Given the description of an element on the screen output the (x, y) to click on. 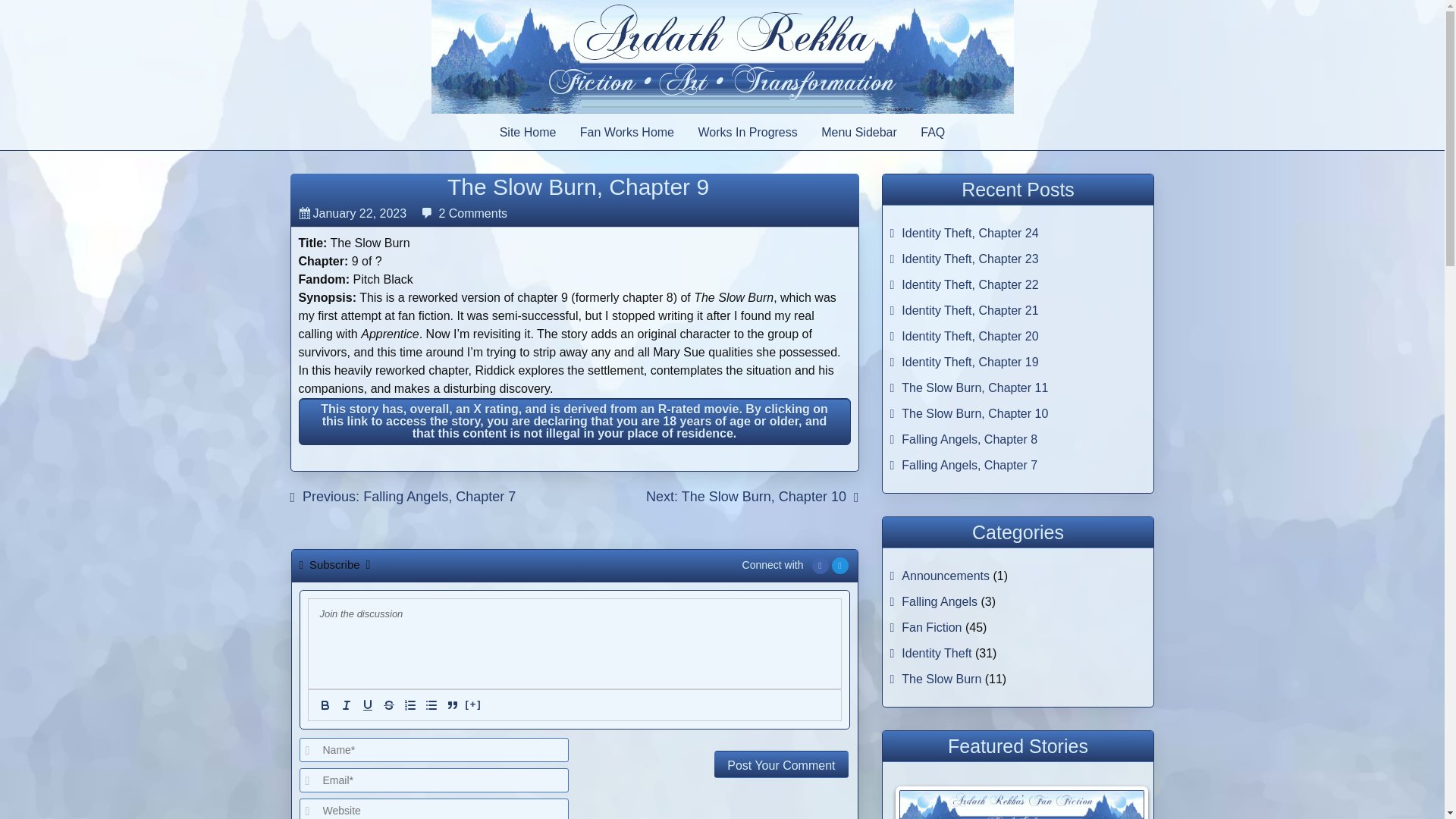
Identity Theft, Chapter 23 (969, 258)
2 Comments (472, 213)
Post Your Comment (780, 764)
Works In Progress (747, 131)
FAQ (933, 131)
Italic (345, 705)
Strike (387, 705)
bullet (430, 705)
Spoiler (473, 705)
Post Your Comment (780, 764)
Fan Works Home (626, 131)
Identity Theft, Chapter 21 (969, 309)
Identity Theft, Chapter 22 (969, 284)
Blockquote (452, 705)
